Given the description of an element on the screen output the (x, y) to click on. 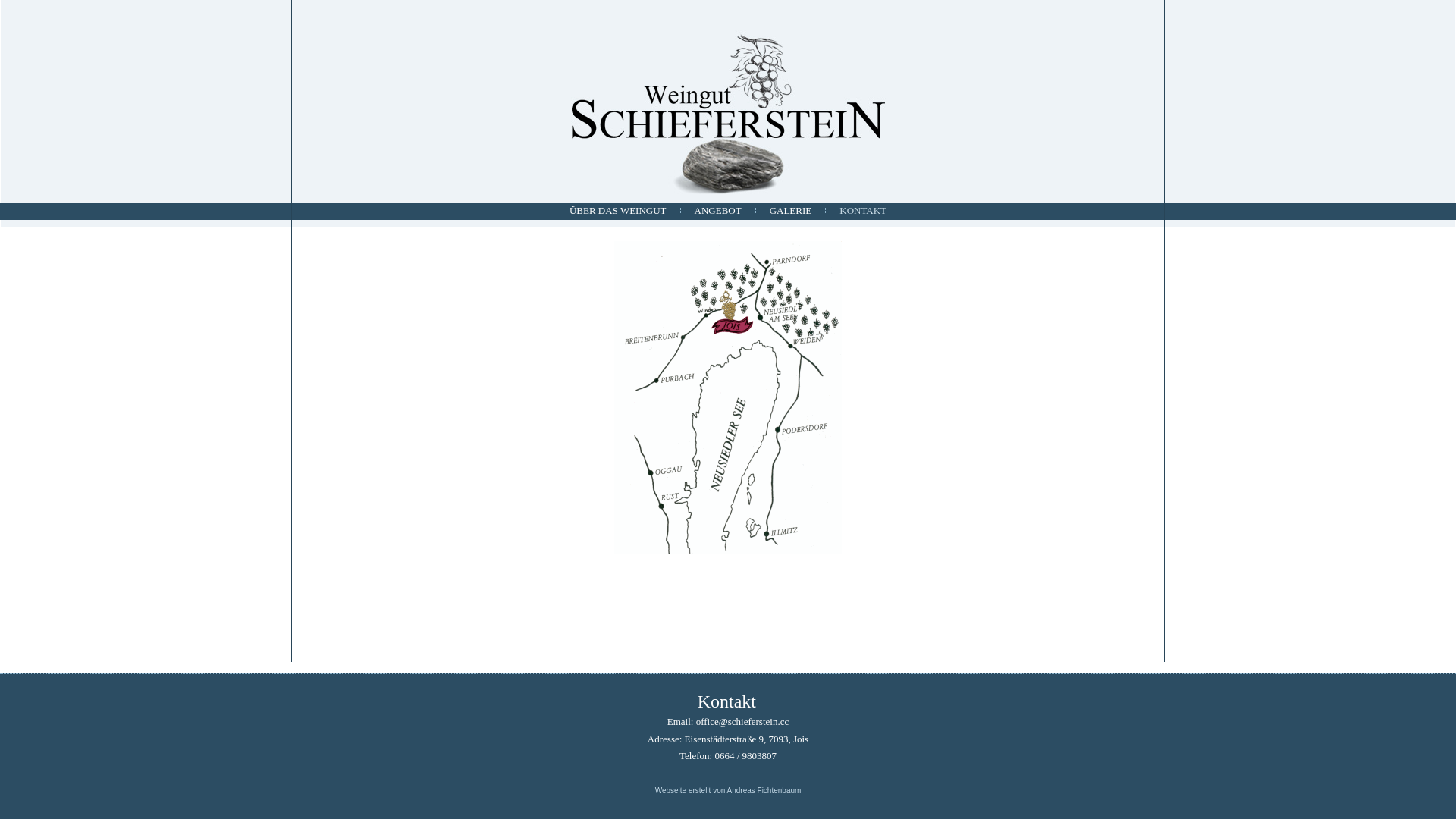
GALERIE Element type: text (790, 210)
KONTAKT Element type: text (862, 210)
ANGEBOT Element type: text (717, 210)
